Given the description of an element on the screen output the (x, y) to click on. 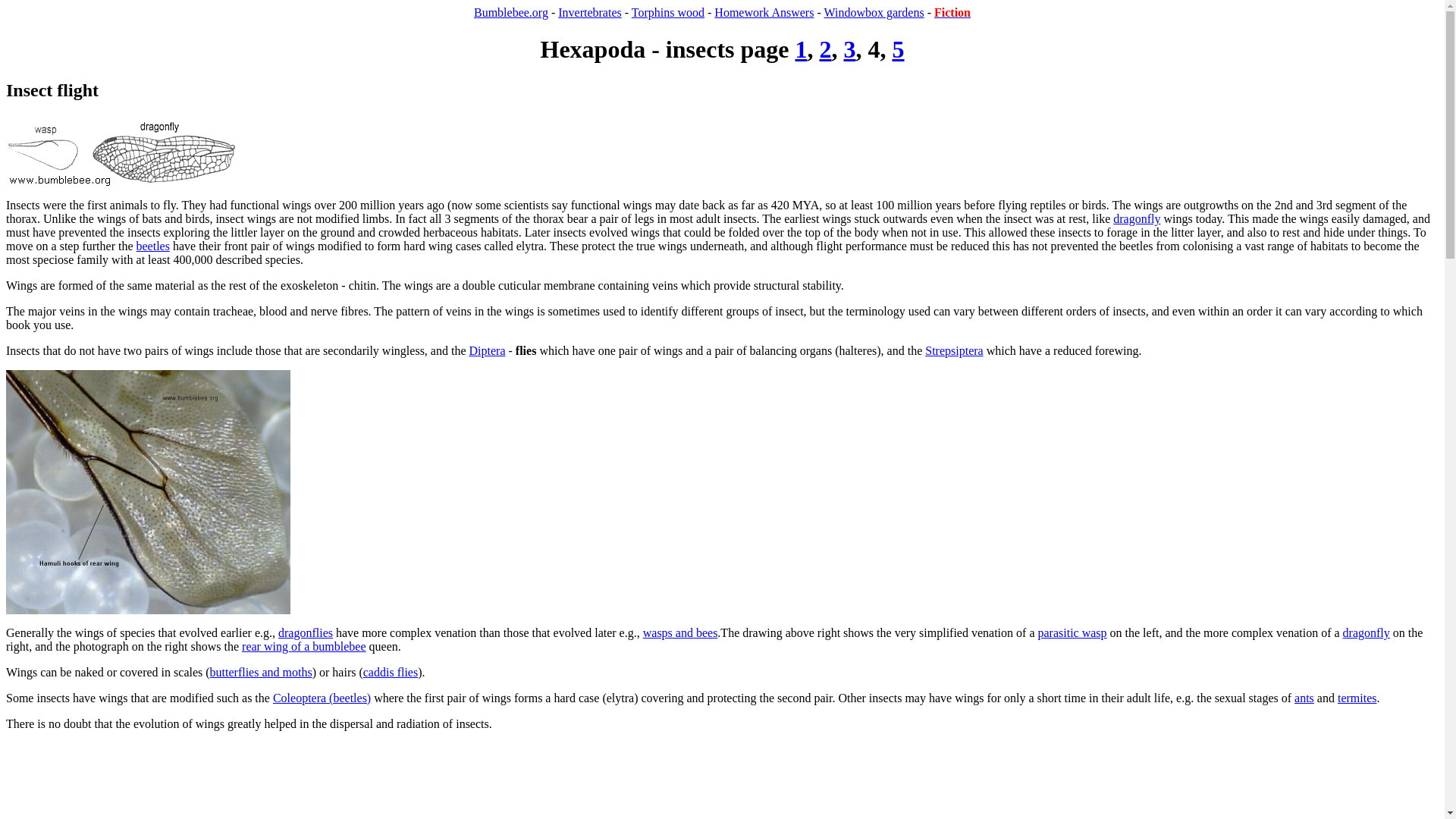
Torphins wood (667, 11)
beetles (153, 245)
Strepsiptera (953, 350)
parasitic wasp (1071, 632)
Homework Answers (763, 11)
caddis flies (389, 671)
Invertebrates (589, 11)
rear wing of a bumblebee (303, 645)
dragonfly (1366, 632)
Windowbox gardens (873, 11)
Advertisement (460, 780)
dragonfly (1136, 218)
Fiction (952, 11)
Bumblebee.org (511, 11)
Diptera (486, 350)
